Given the description of an element on the screen output the (x, y) to click on. 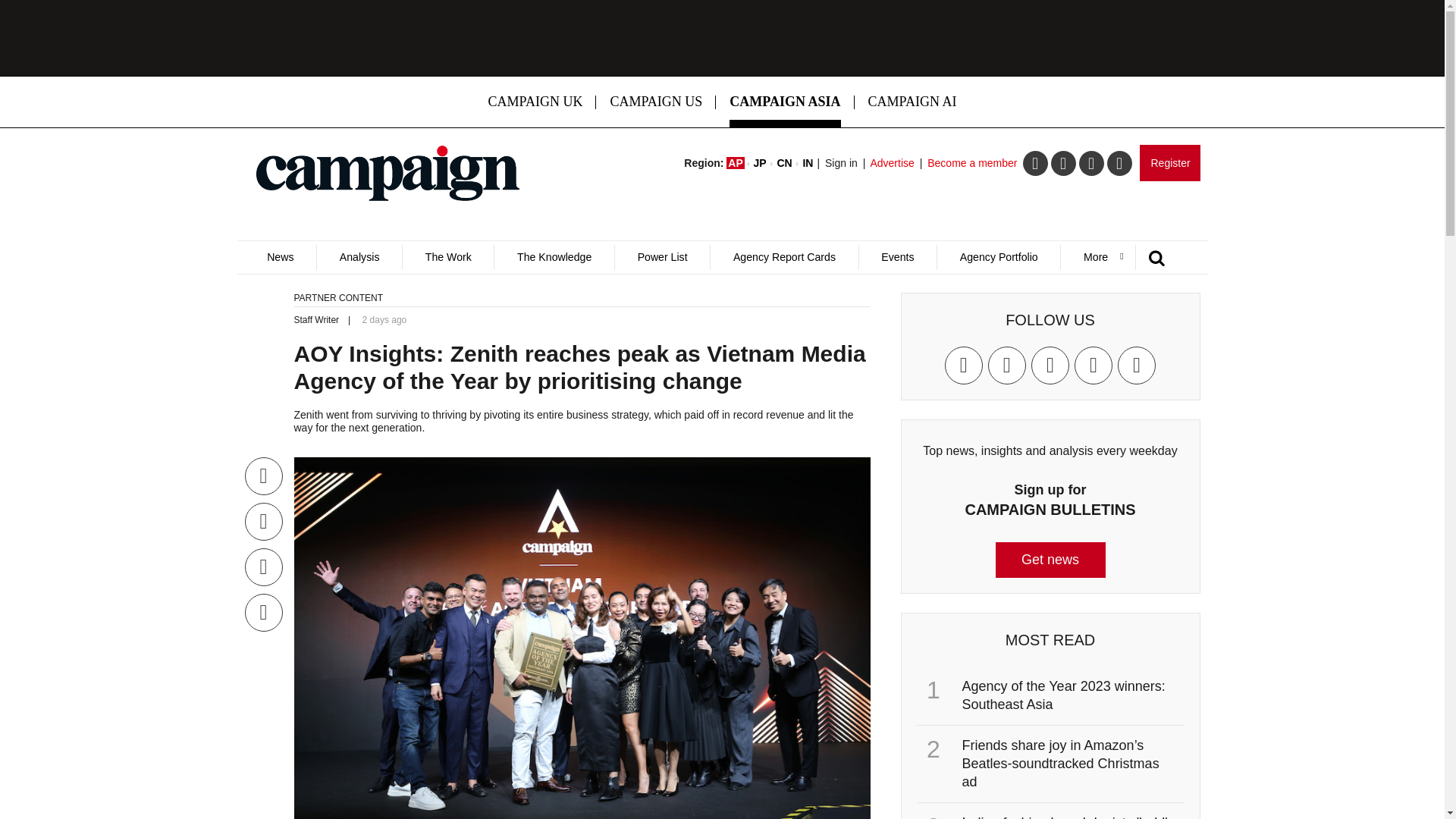
Events (898, 257)
Power List (662, 257)
Analysis (358, 257)
CAMPAIGN ASIA (784, 101)
Events (898, 257)
Sign in (841, 162)
CAMPAIGN AI (912, 101)
CN (783, 162)
Become a member (971, 162)
The Knowledge (553, 257)
Agency Portfolio (997, 257)
The Work (447, 257)
The Knowledge (553, 257)
Search (952, 310)
Advertise (891, 162)
